Given the description of an element on the screen output the (x, y) to click on. 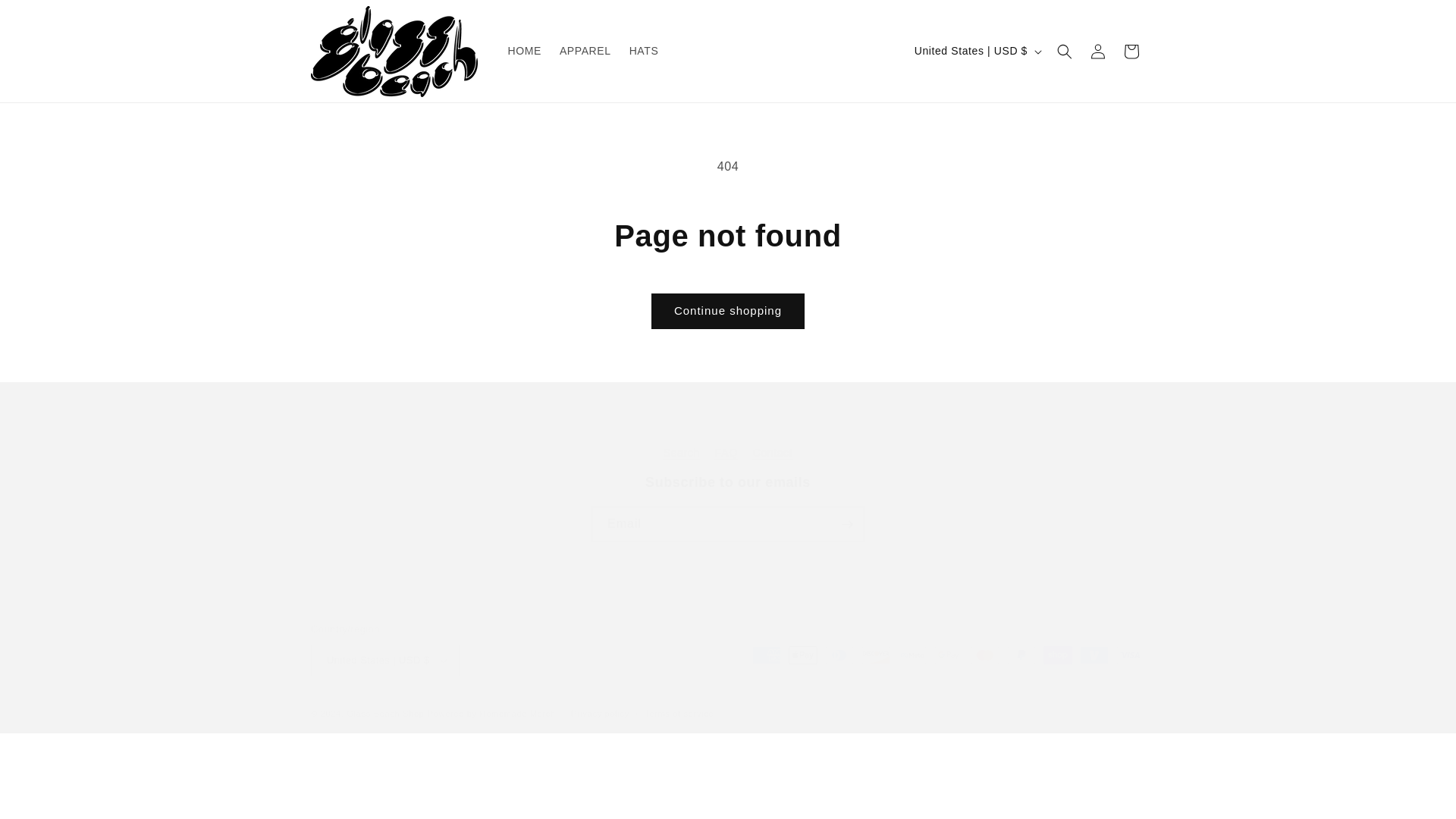
Log in (1098, 51)
HATS (727, 508)
Continue shopping (644, 50)
Skip to content (727, 311)
Homemade Merch (45, 17)
Privacy policy (518, 713)
Glass Beach Shop (599, 713)
Search FAQ Contact (384, 713)
Search FAQ Contact (727, 452)
Contact (727, 438)
Search (772, 452)
HOME (681, 454)
APPAREL (524, 50)
Terms of service (585, 50)
